Given the description of an element on the screen output the (x, y) to click on. 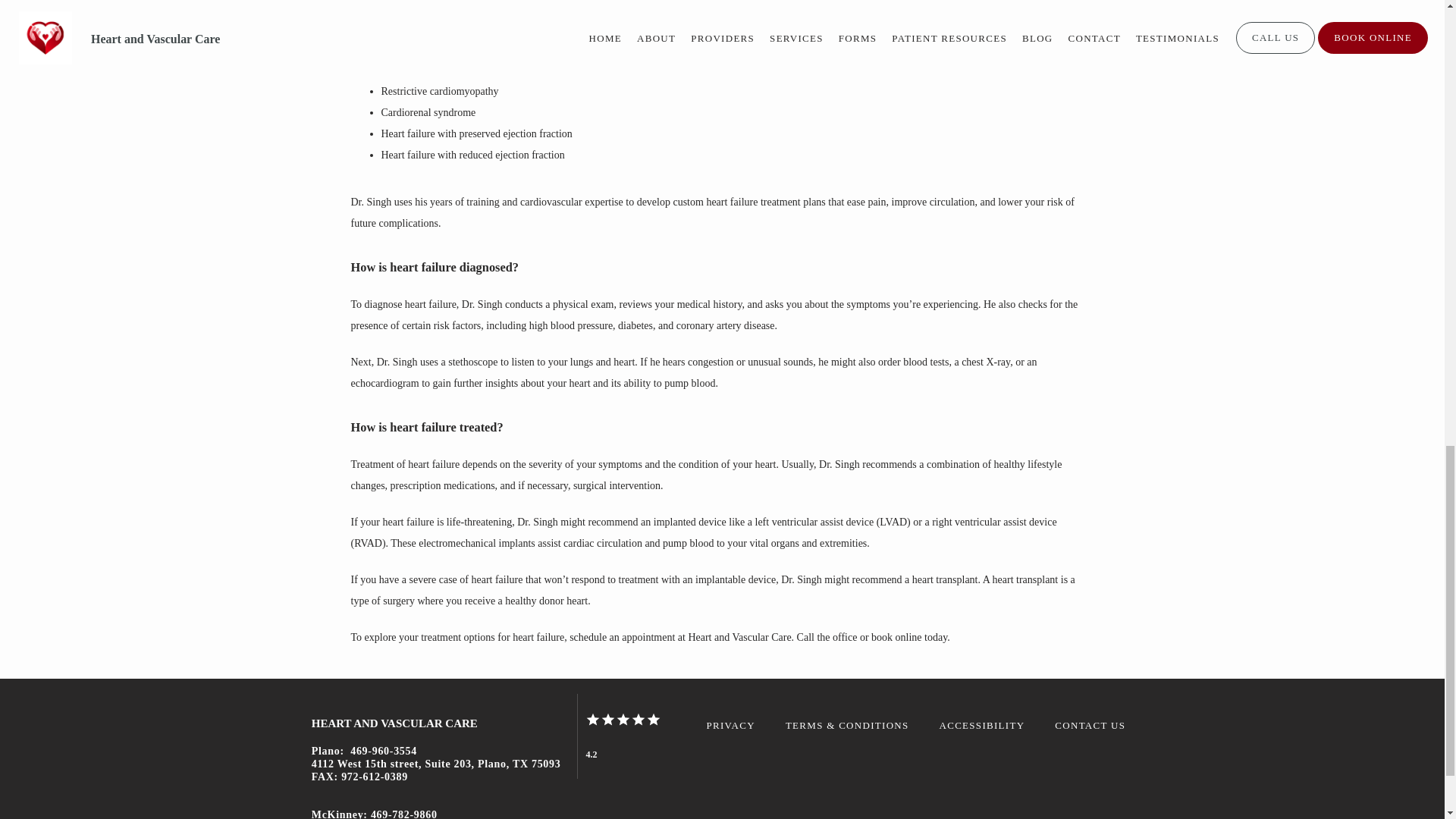
ACCESSIBILITY (982, 725)
CONTACT US (1089, 725)
PRIVACY (730, 725)
